Given the description of an element on the screen output the (x, y) to click on. 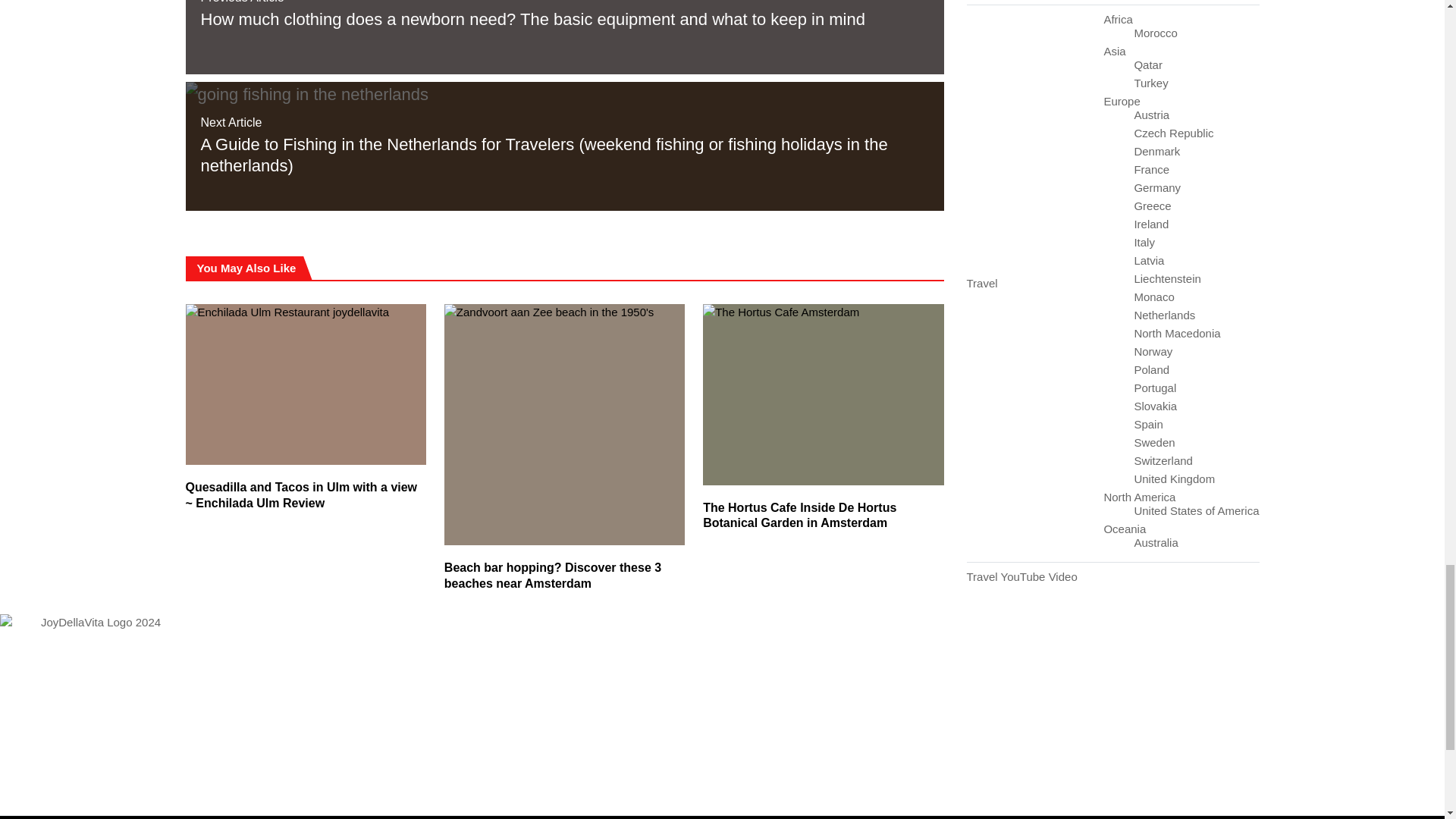
Beach bar hopping? Discover these 3 beaches near Amsterdam 7 (564, 423)
